Given the description of an element on the screen output the (x, y) to click on. 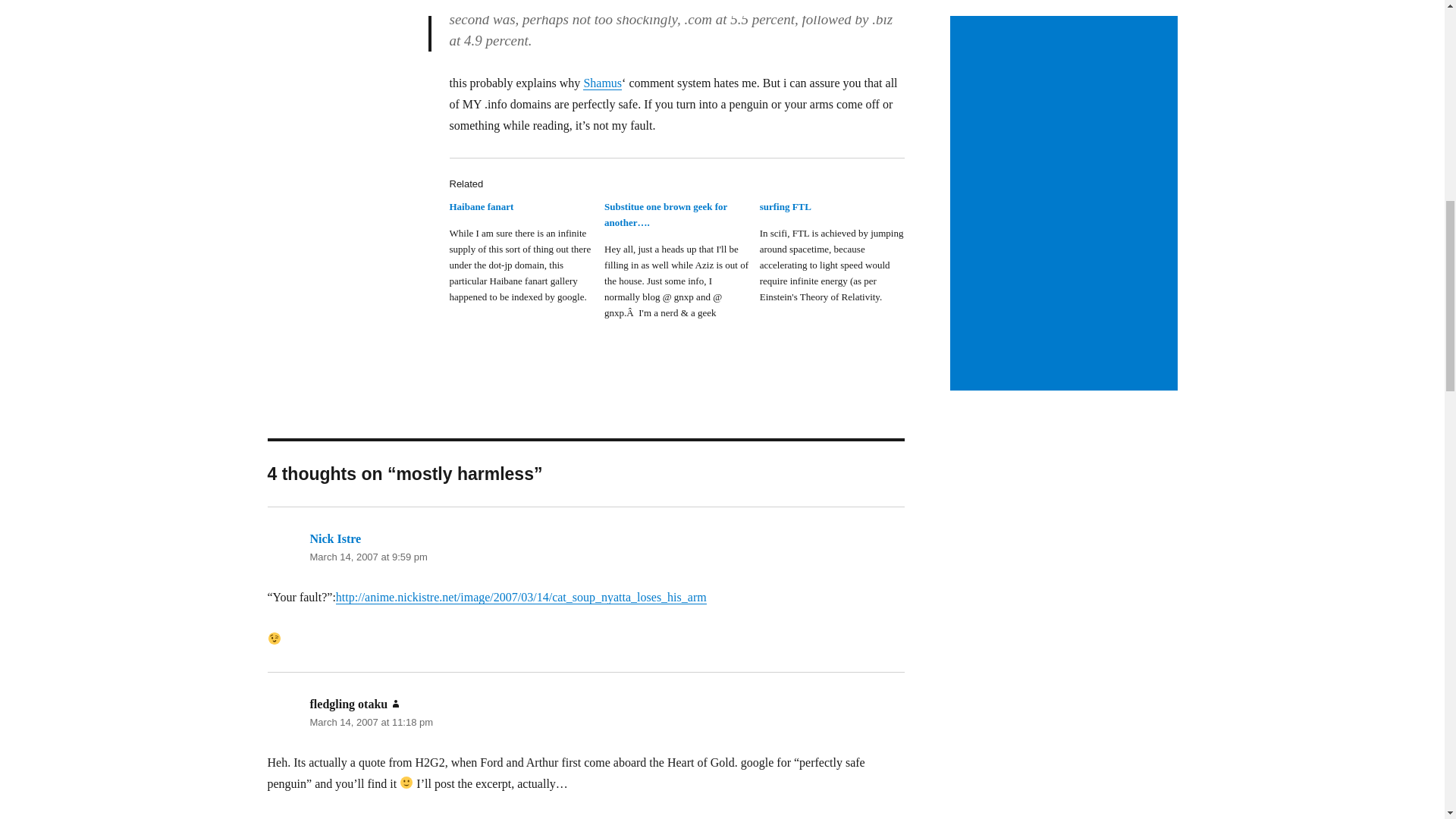
Haibane fanart (480, 206)
surfing FTL (785, 206)
Haibane fanart (526, 257)
surfing FTL (785, 206)
March 14, 2007 at 9:59 pm (367, 556)
Nick Istre (334, 538)
Shamus (602, 82)
Haibane fanart (480, 206)
March 14, 2007 at 11:18 pm (370, 722)
surfing FTL (837, 257)
